Given the description of an element on the screen output the (x, y) to click on. 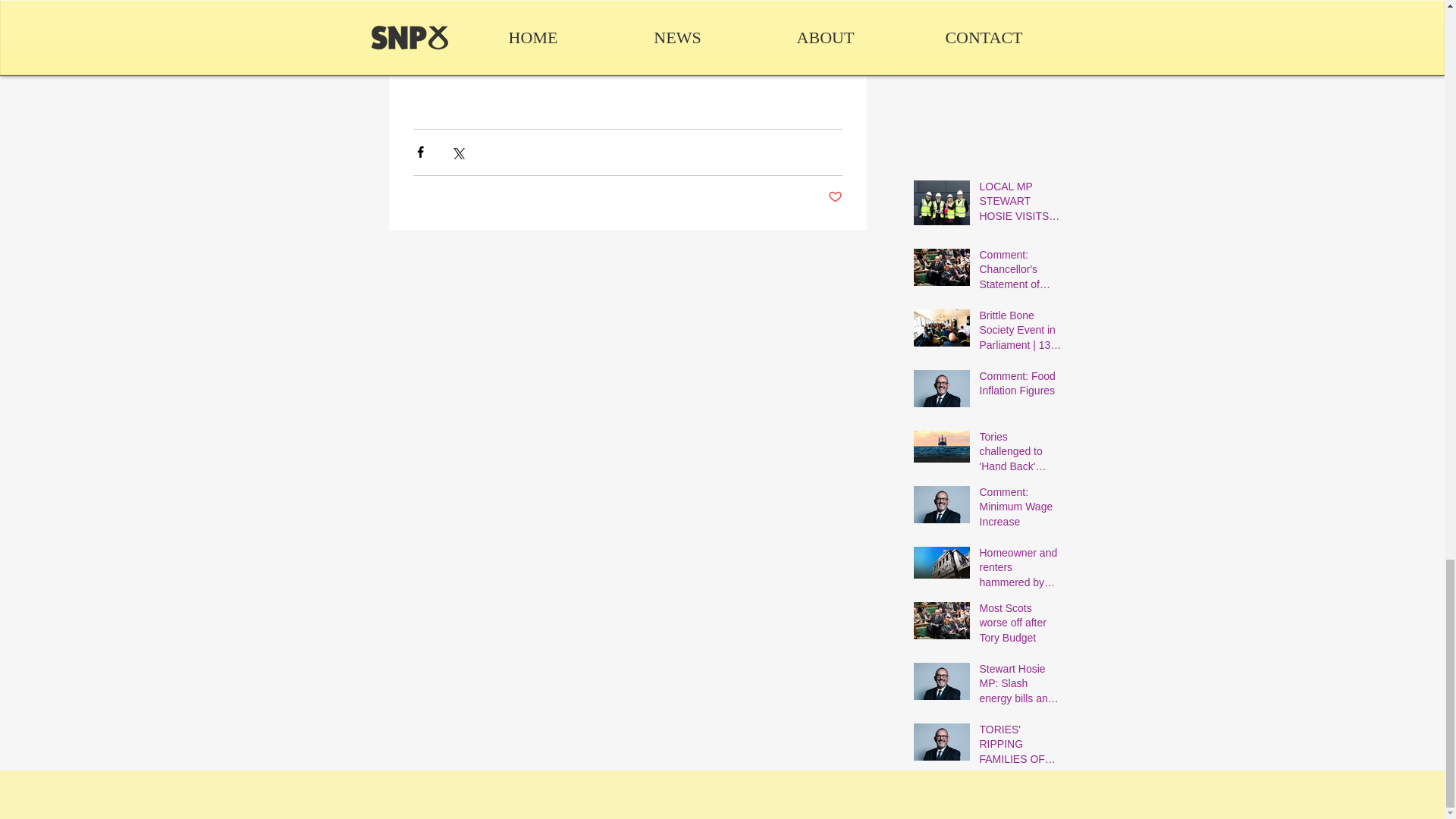
Homeowner and renters hammered by Tory failure (1020, 571)
Comment: Minimum Wage Increase (1020, 510)
Post not marked as liked (835, 197)
Most Scots worse off after Tory Budget (1020, 626)
Comment: Chancellor's Statement of 26th June 2023 (1020, 273)
Comment: Food Inflation Figures (1020, 386)
